Given the description of an element on the screen output the (x, y) to click on. 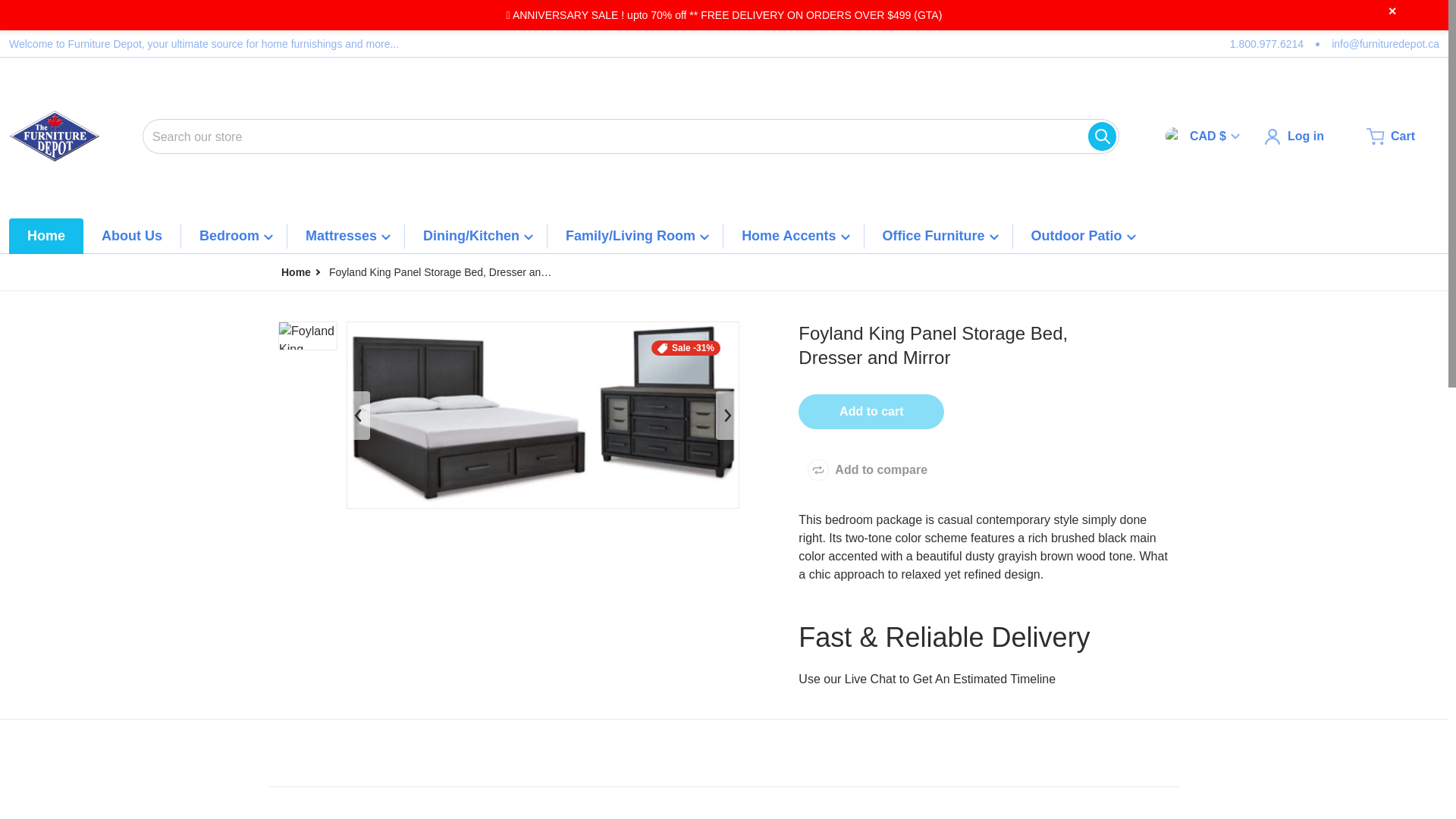
Skip to content (48, 36)
Foyland King Panel Storage Bed, Dresser and Mirror (307, 335)
Email Us (1385, 43)
Cart (1390, 136)
Call Us (1266, 43)
Home page (296, 272)
1.800.977.6214 (1266, 43)
Log in (1293, 136)
